Given the description of an element on the screen output the (x, y) to click on. 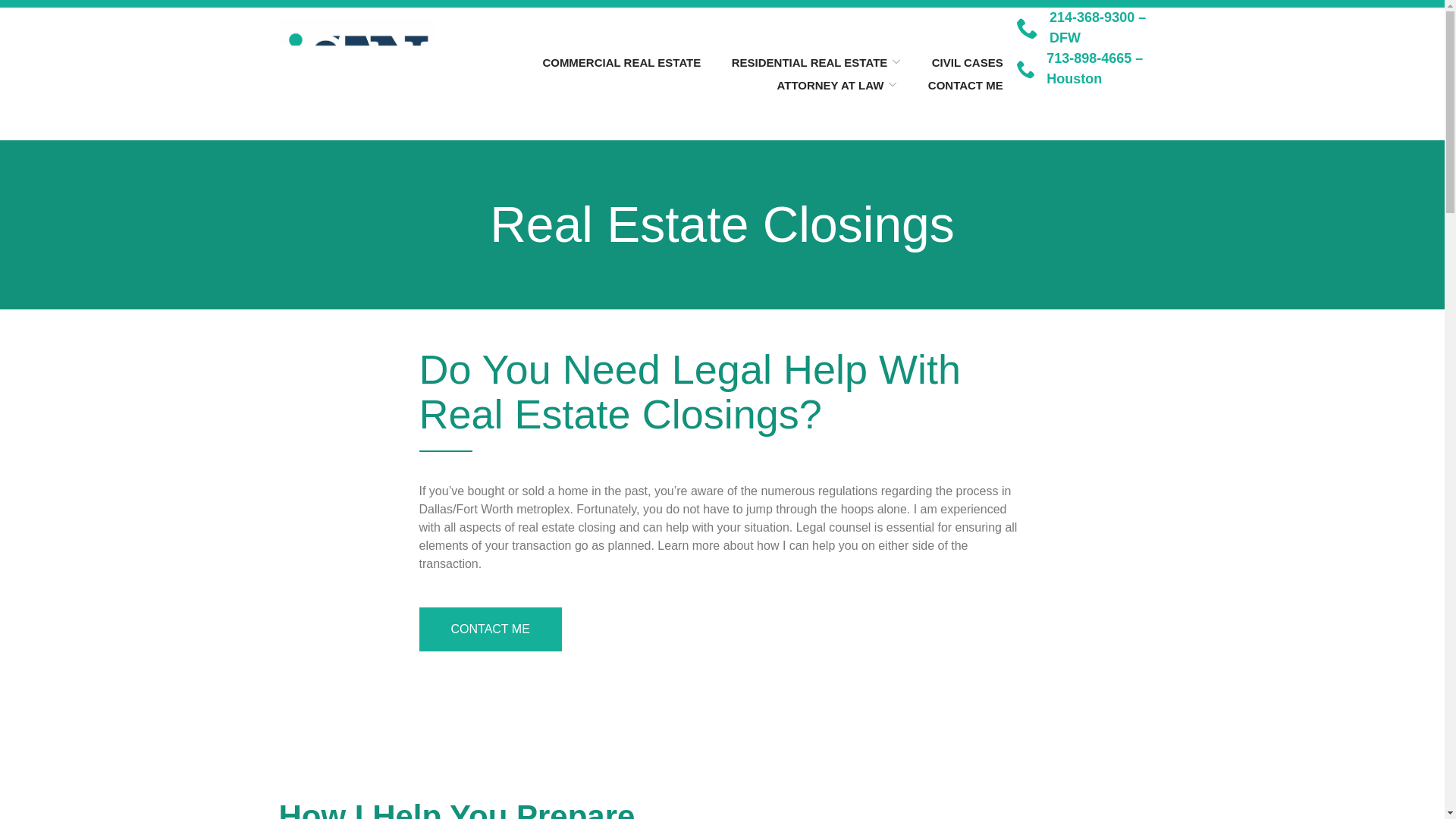
CIVIL CASES (967, 62)
RESIDENTIAL REAL ESTATE (816, 62)
ATTORNEY AT LAW (836, 84)
CONTACT ME (965, 84)
COMMERCIAL REAL ESTATE (620, 62)
